Given the description of an element on the screen output the (x, y) to click on. 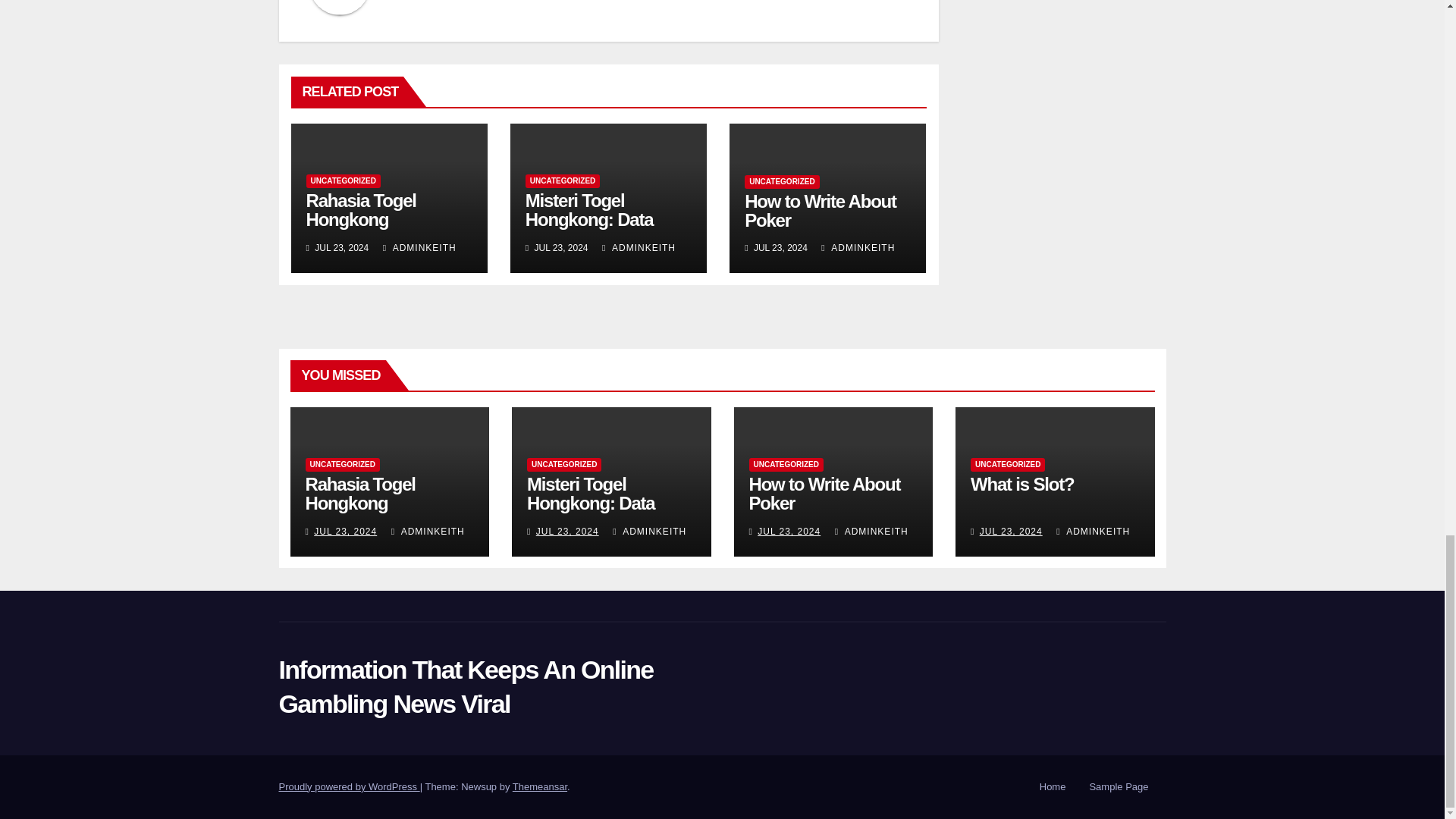
Misteri Togel Hongkong: Data Terbaru dan Prediksi Hari Ini (606, 228)
UNCATEGORIZED (342, 181)
Permalink to: What is Slot? (1022, 484)
Home (1052, 786)
ADMINKEITH (419, 247)
How to Write About Poker (820, 210)
Rahasia Togel Hongkong Terungkap: Data Keluaran HK Terbaru (386, 228)
UNCATEGORIZED (562, 181)
ADMINKEITH (858, 247)
Permalink to: How to Write About Poker (820, 210)
ADMINKEITH (638, 247)
UNCATEGORIZED (781, 182)
